Given the description of an element on the screen output the (x, y) to click on. 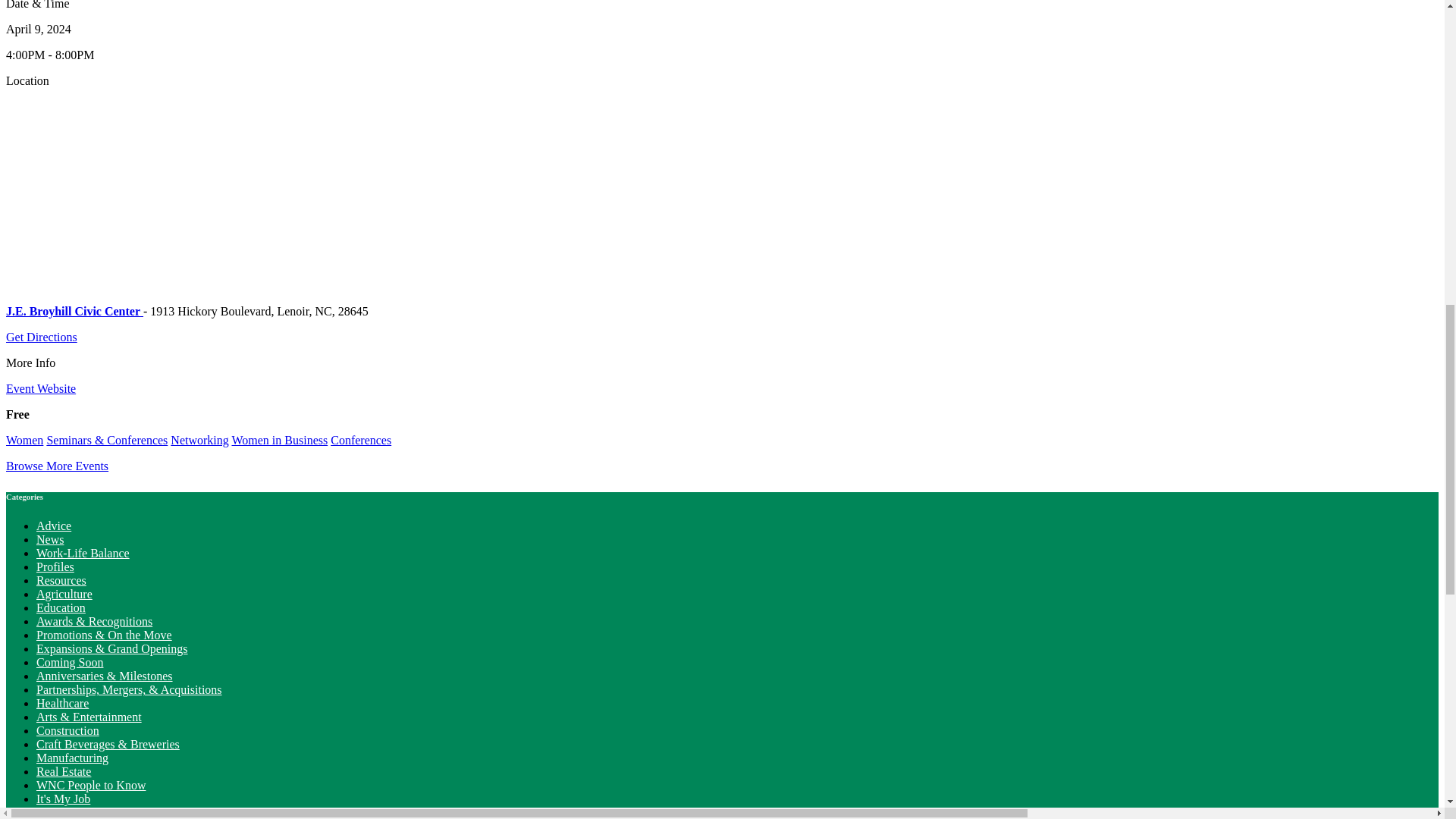
See what else is going on! (56, 465)
